Given the description of an element on the screen output the (x, y) to click on. 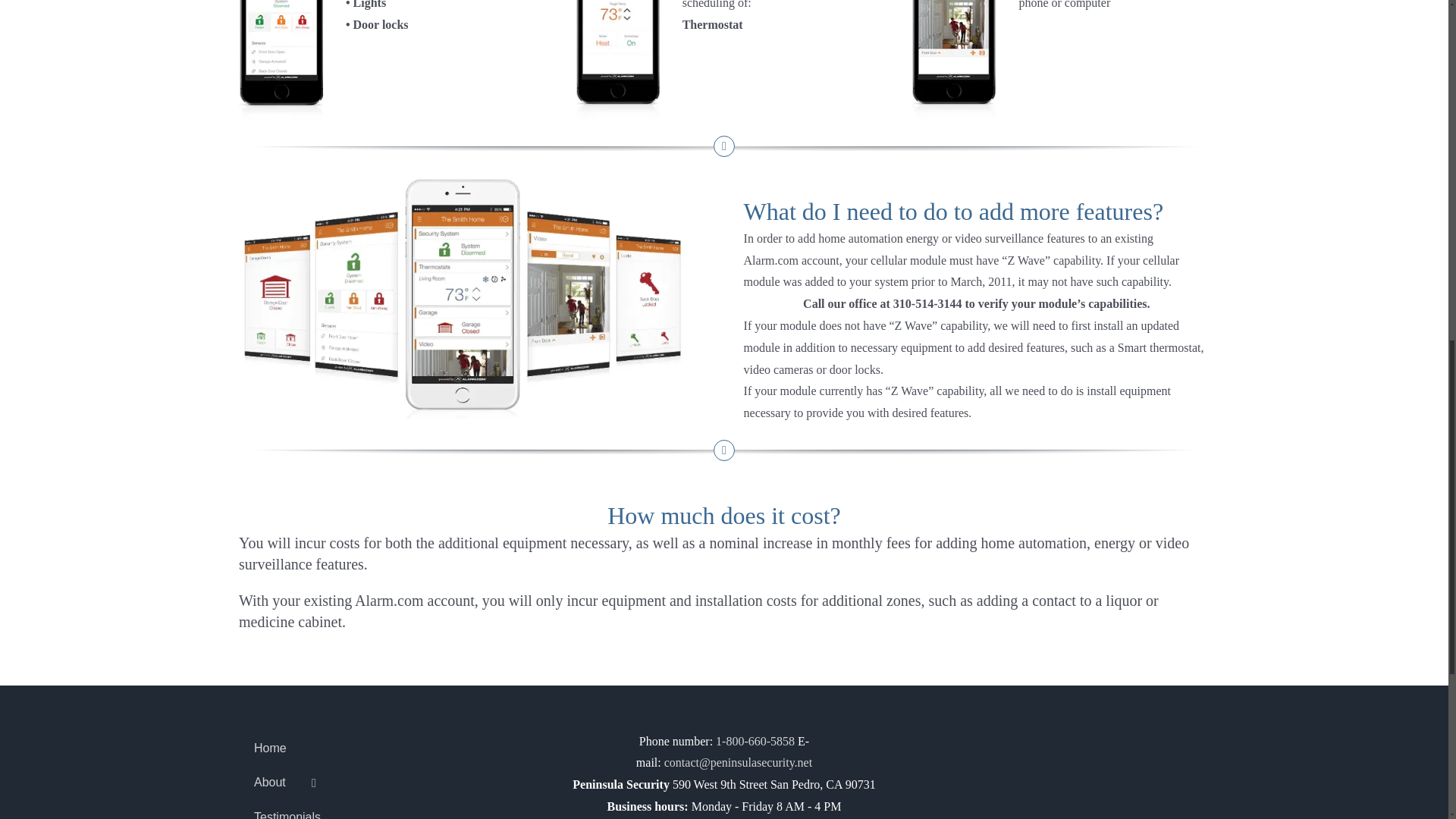
Home (391, 749)
Email Peninsula Security (737, 762)
existing-iphone-screens (466, 295)
